Given the description of an element on the screen output the (x, y) to click on. 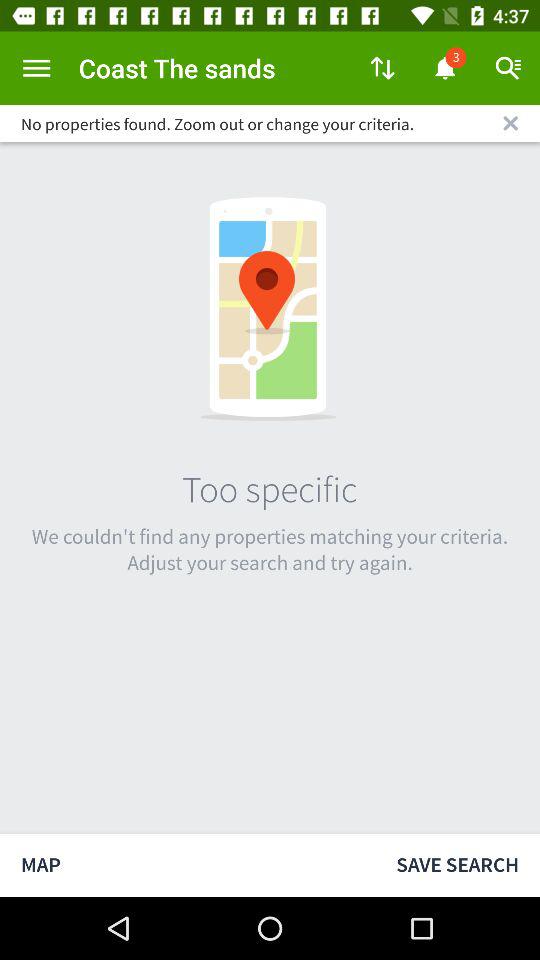
close (510, 123)
